Given the description of an element on the screen output the (x, y) to click on. 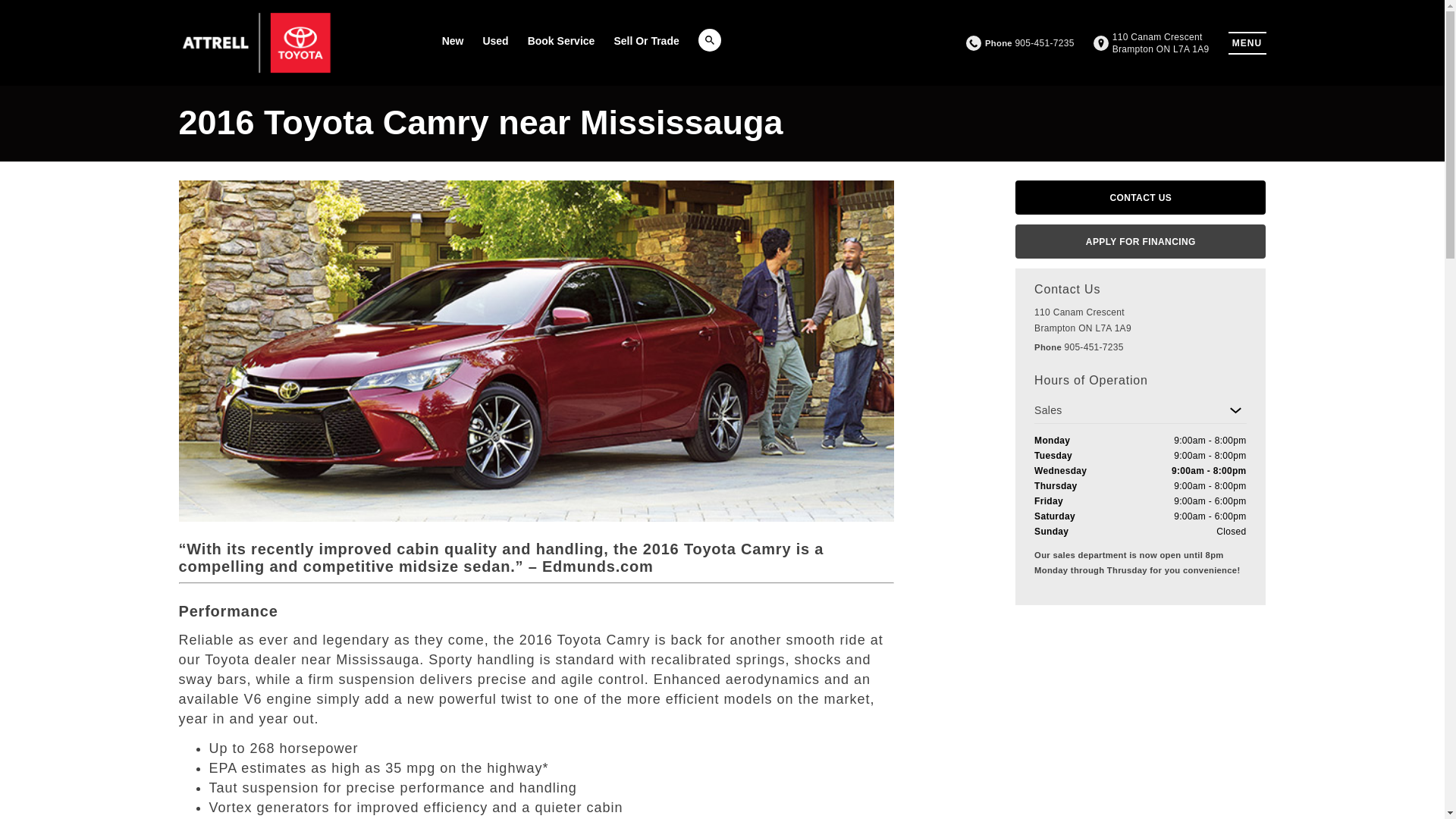
Used (494, 40)
2016 Toyota Camry available near Mississauga (584, 639)
Phone 905-451-7235 (1029, 42)
New (1151, 43)
Sell Or Trade (453, 40)
Book Service (645, 40)
